Given the description of an element on the screen output the (x, y) to click on. 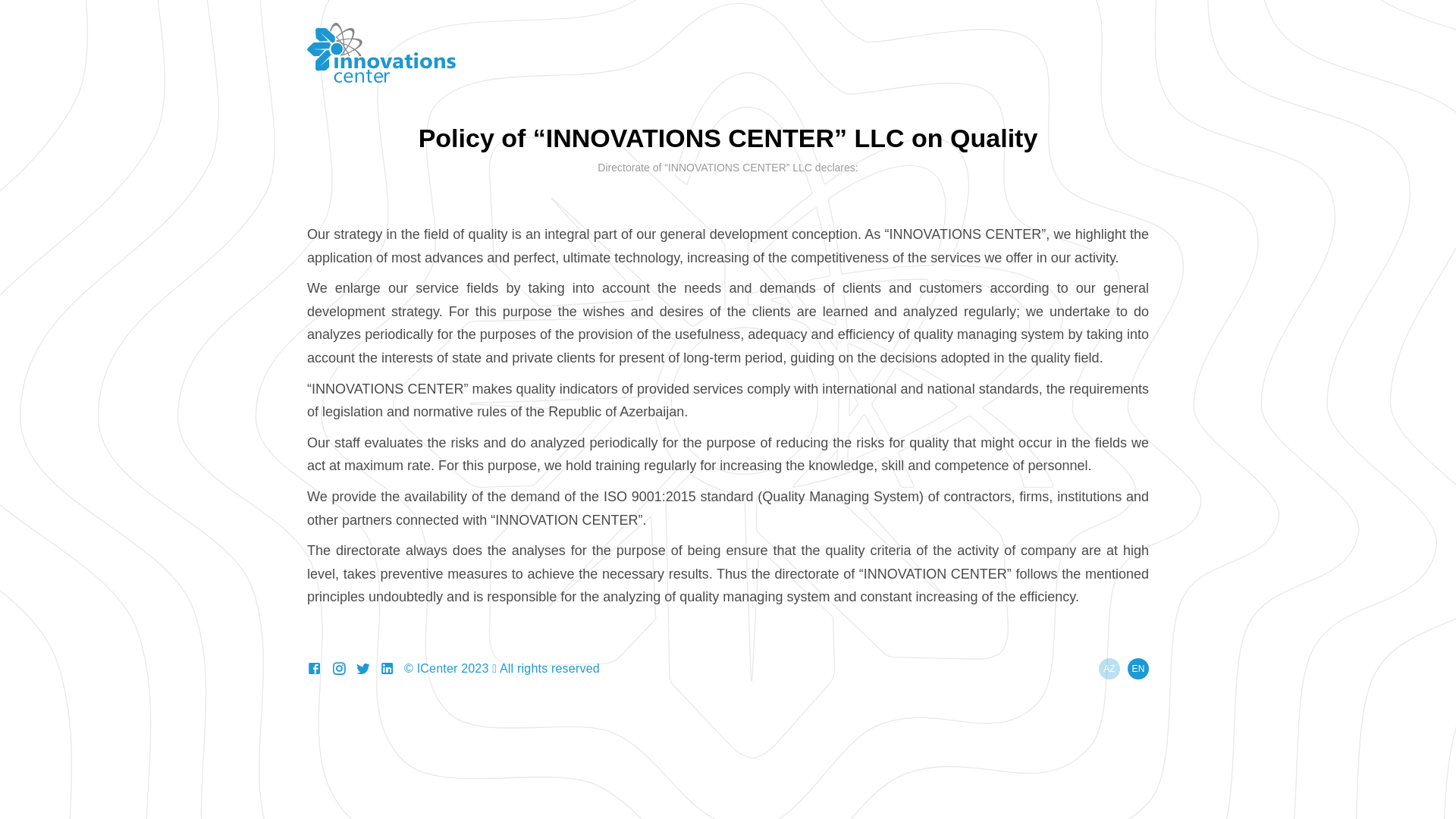
EN Element type: text (1137, 668)
AZ Element type: text (1109, 668)
